Given the description of an element on the screen output the (x, y) to click on. 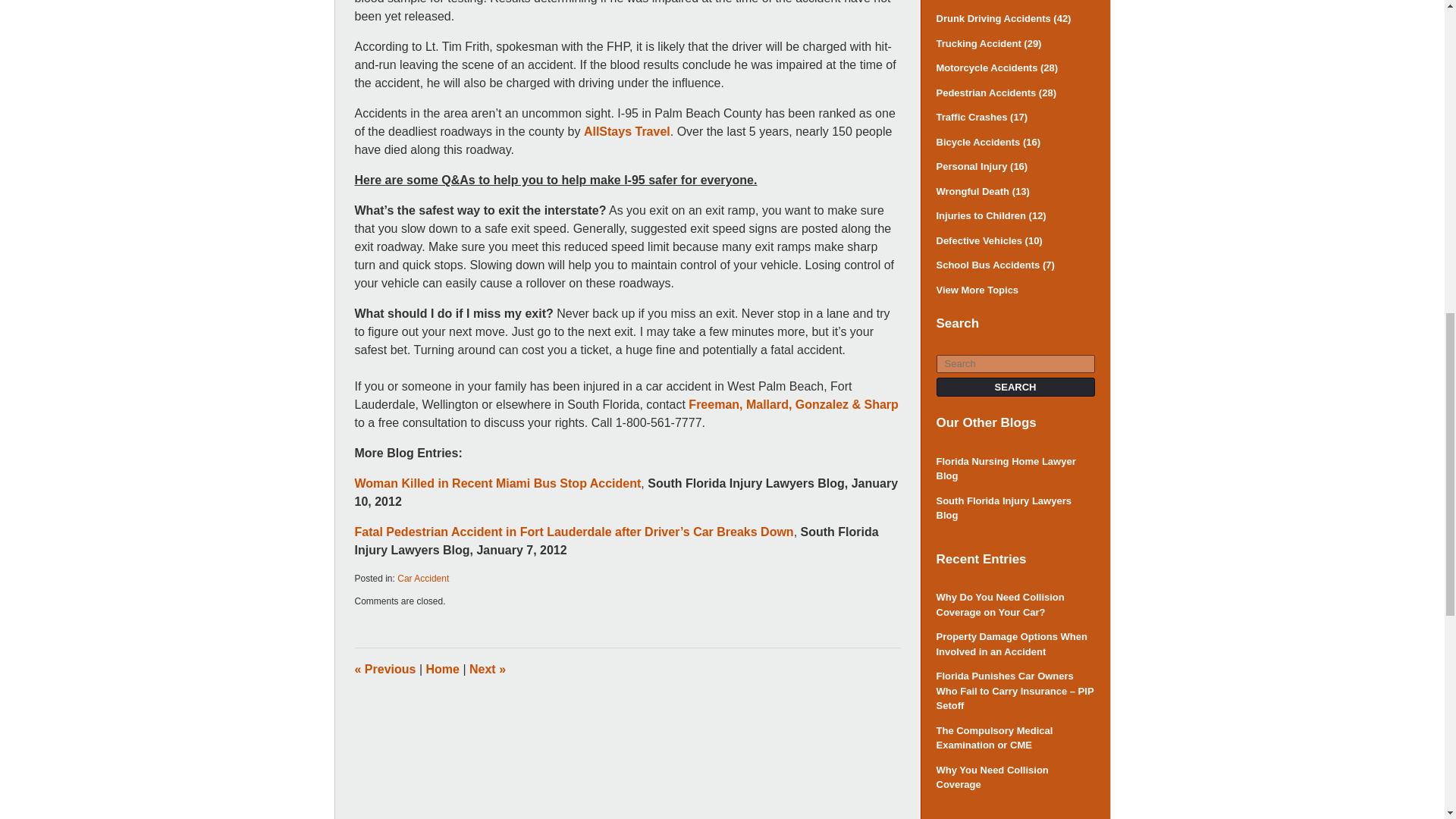
Woman Killed in Recent Miami Bus Stop Accident (498, 482)
Car Accident (422, 578)
View all posts in Car Accident (422, 578)
AllStays Travel (626, 131)
Home (443, 668)
Miami Bus Accident Injures Eighteen (486, 668)
